Given the description of an element on the screen output the (x, y) to click on. 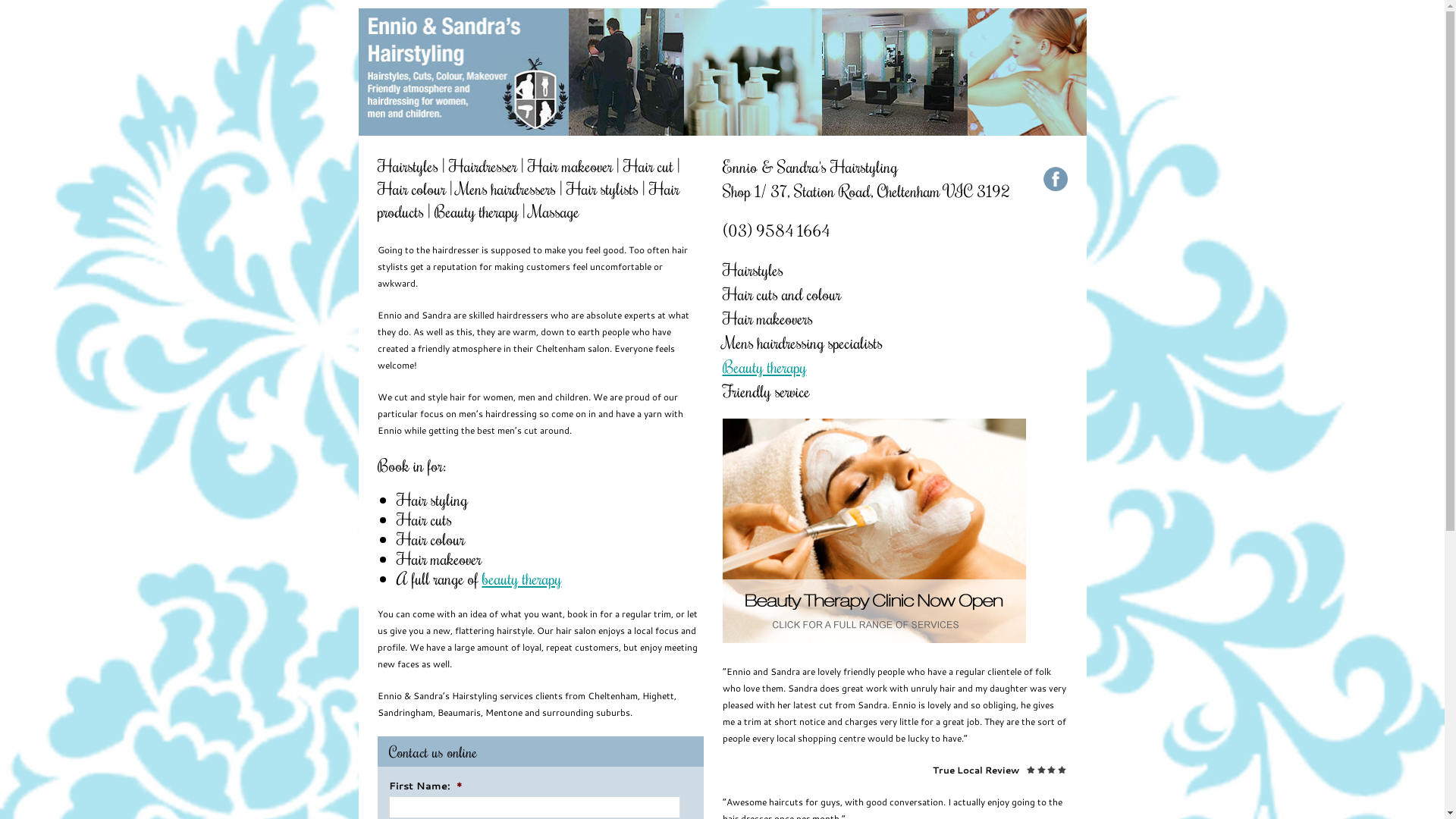
  Element type: text (1055, 178)
Beauty therapy Element type: text (763, 366)
beauty therapy Element type: text (521, 578)
